Given the description of an element on the screen output the (x, y) to click on. 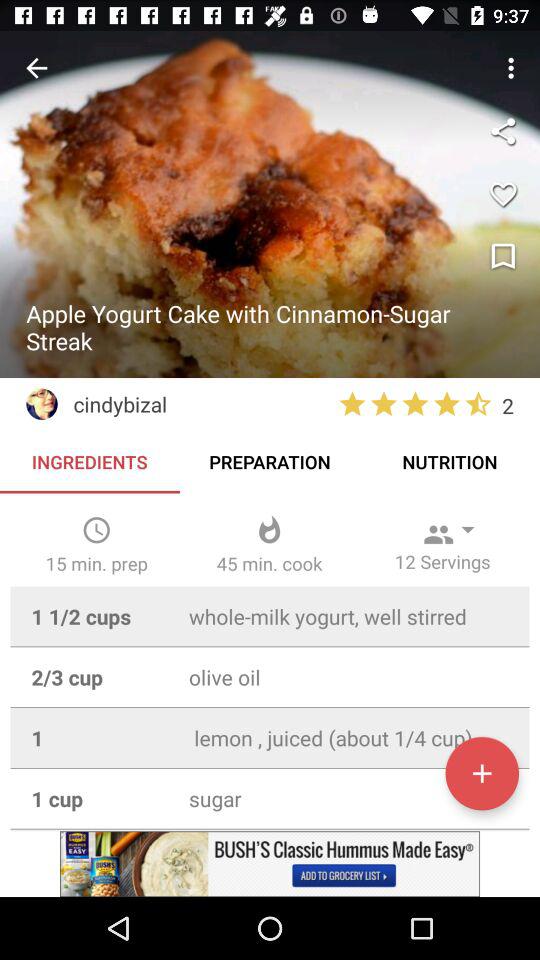
page share button (503, 131)
